Given the description of an element on the screen output the (x, y) to click on. 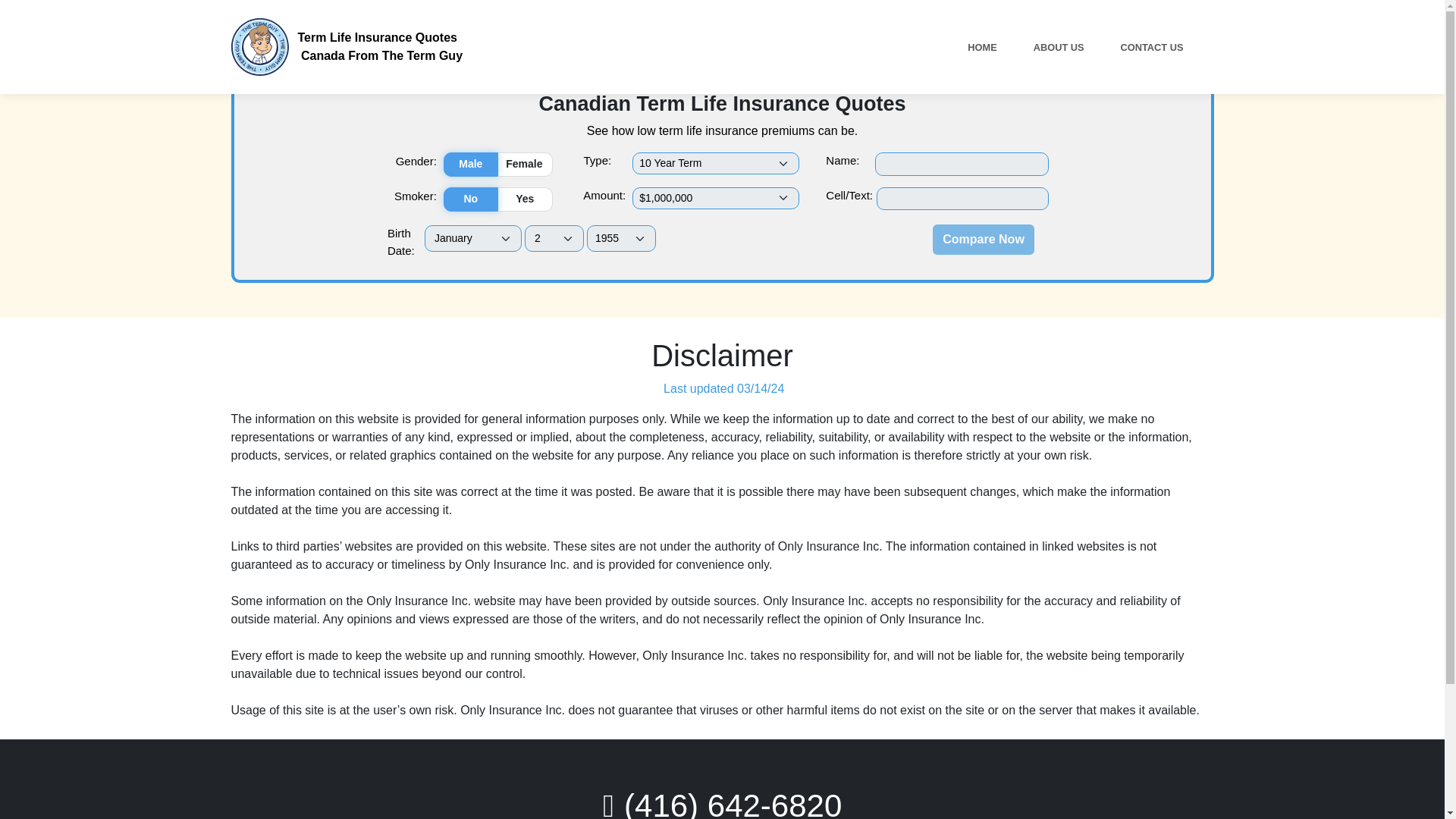
ABOUT US (1058, 47)
CONTACT US (1152, 47)
Compare Now (346, 46)
HOME (983, 239)
